Given the description of an element on the screen output the (x, y) to click on. 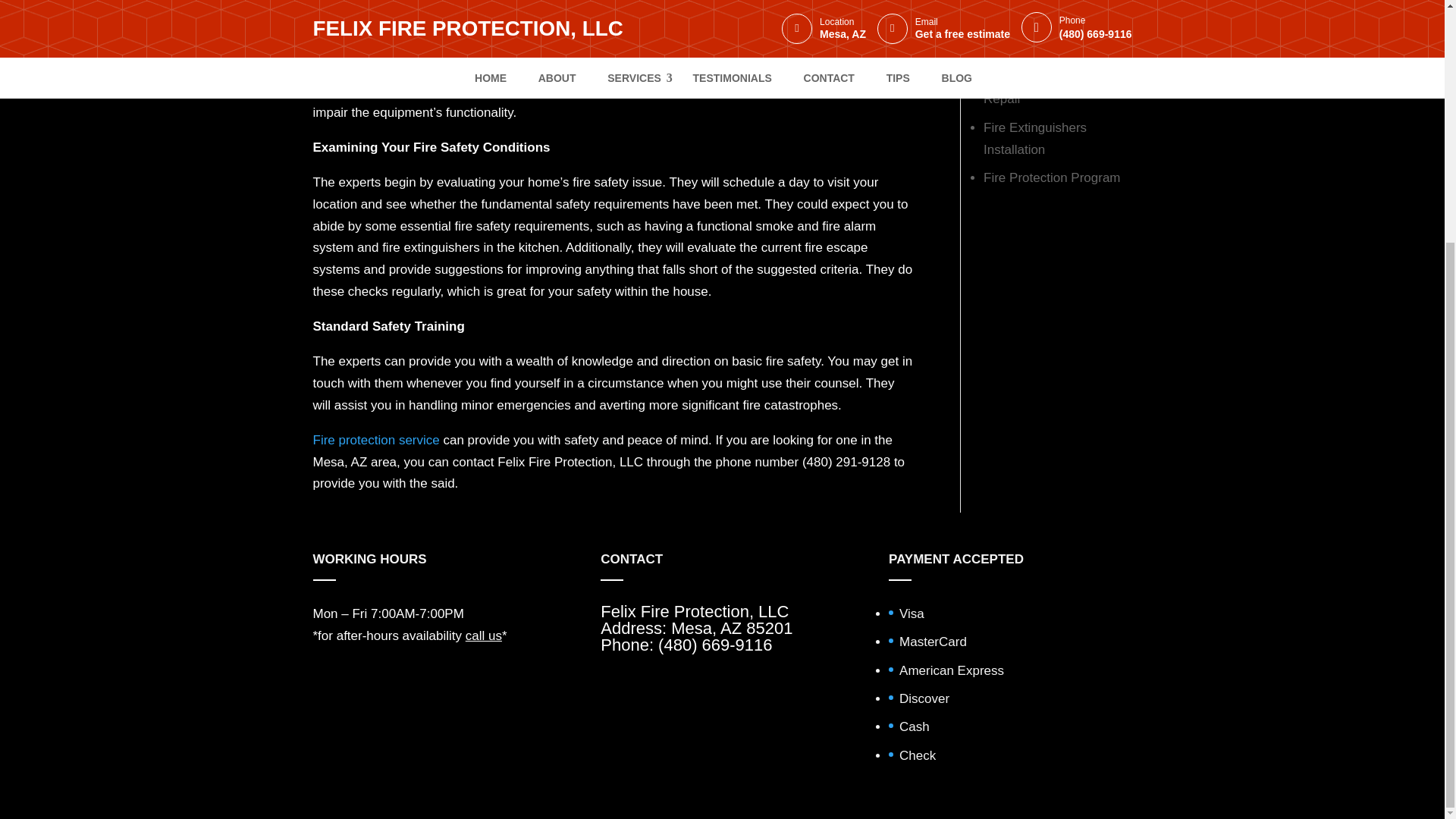
call us (483, 635)
Fire protection service (376, 440)
